Given the description of an element on the screen output the (x, y) to click on. 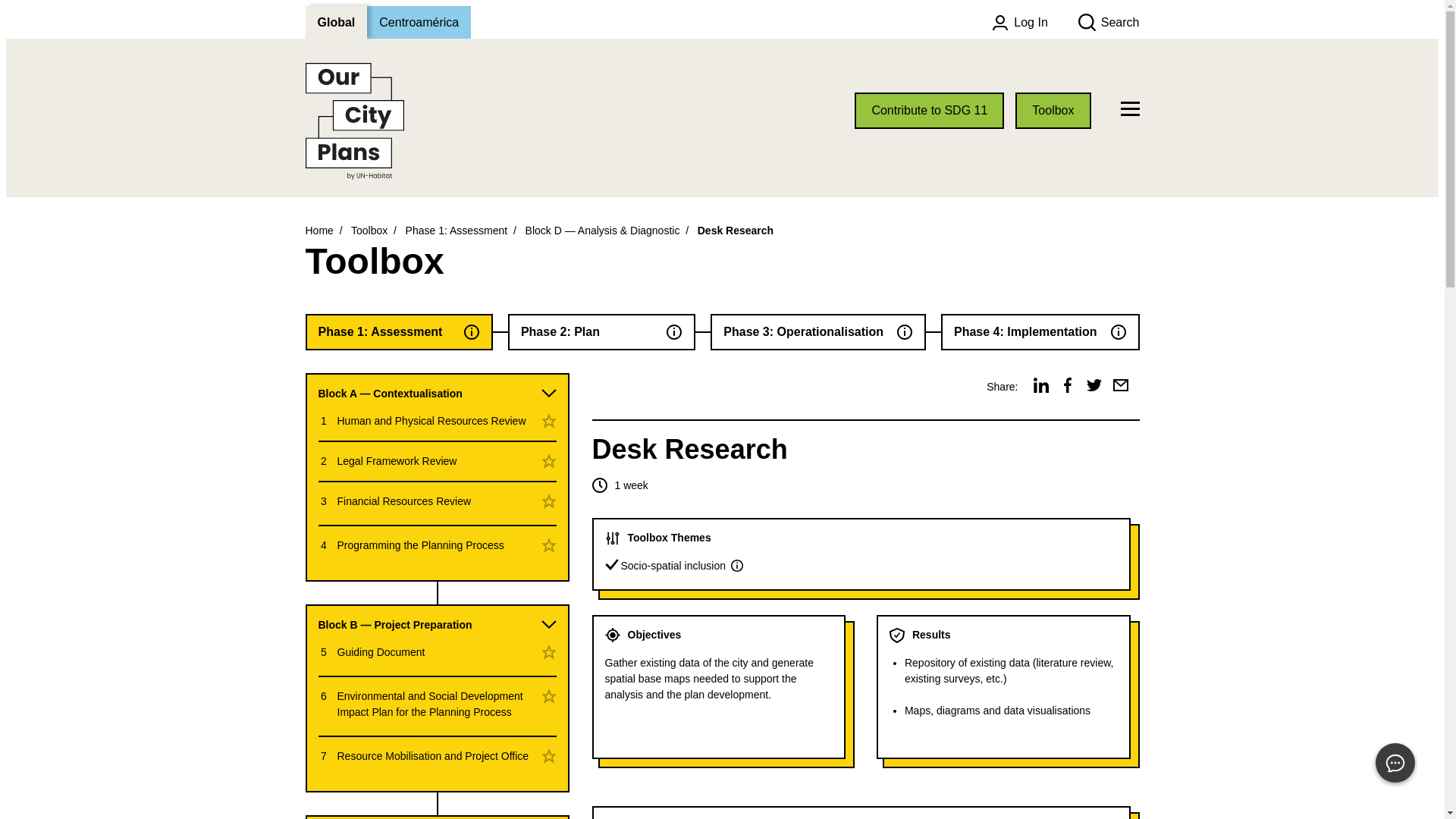
Home (318, 230)
Bookmarked (548, 461)
Global (335, 21)
Phase 1: Assessment (457, 230)
Contribute to SDG 11 (929, 110)
Legal Framework Review (396, 460)
Log In (1018, 22)
Bookmarked (548, 421)
Toolbox (368, 230)
Search (1109, 22)
Human and Physical Resources Review (430, 420)
